Given the description of an element on the screen output the (x, y) to click on. 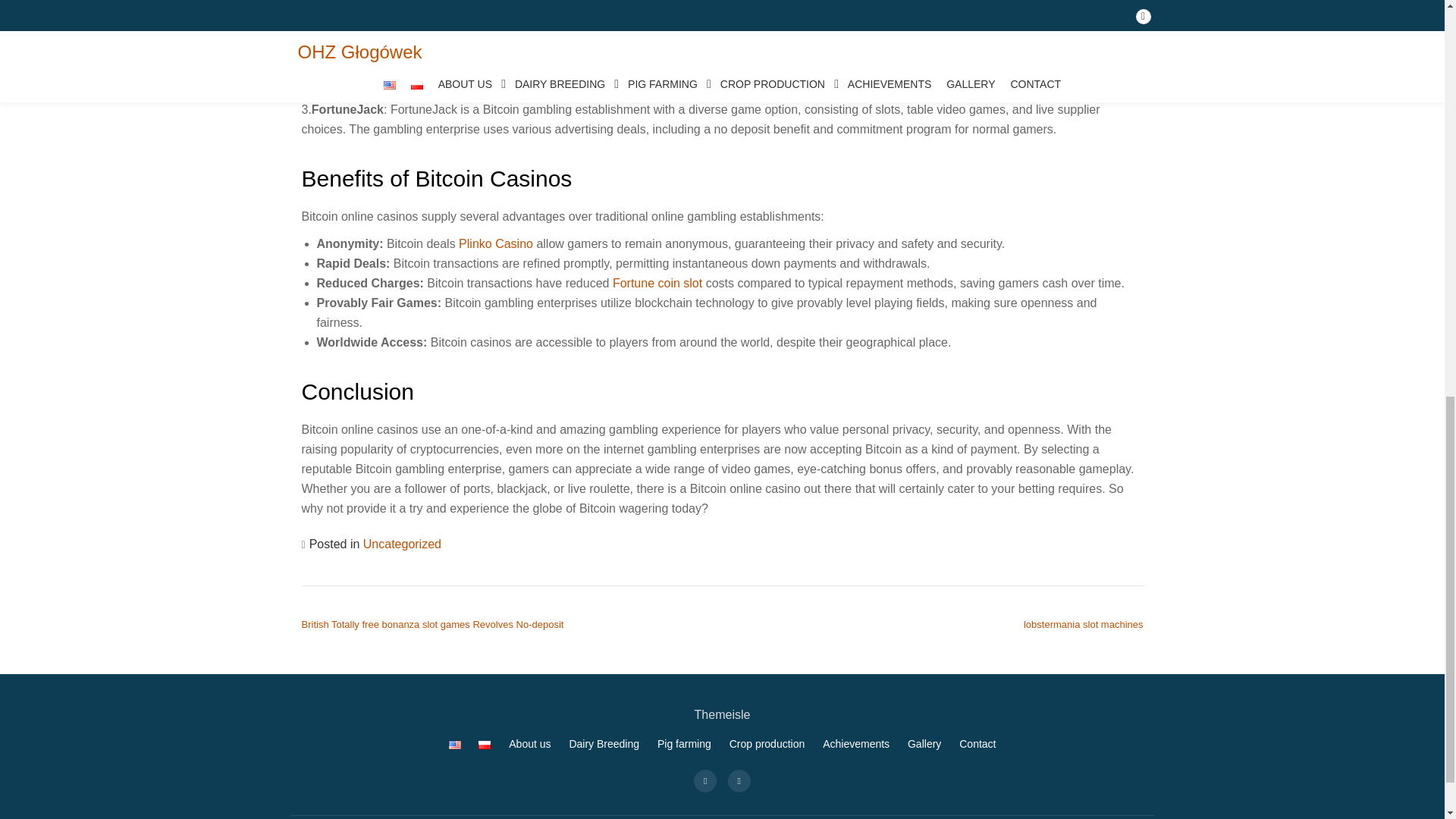
lobstermania slot machines (1082, 624)
Fortune coin slot (656, 282)
Uncategorized (401, 543)
Plinko Casino (495, 243)
Pig farming (684, 743)
Crop production (767, 743)
fa-facebook (705, 779)
Gallery (923, 743)
Achievements (855, 743)
fa-youtube (738, 779)
